Given the description of an element on the screen output the (x, y) to click on. 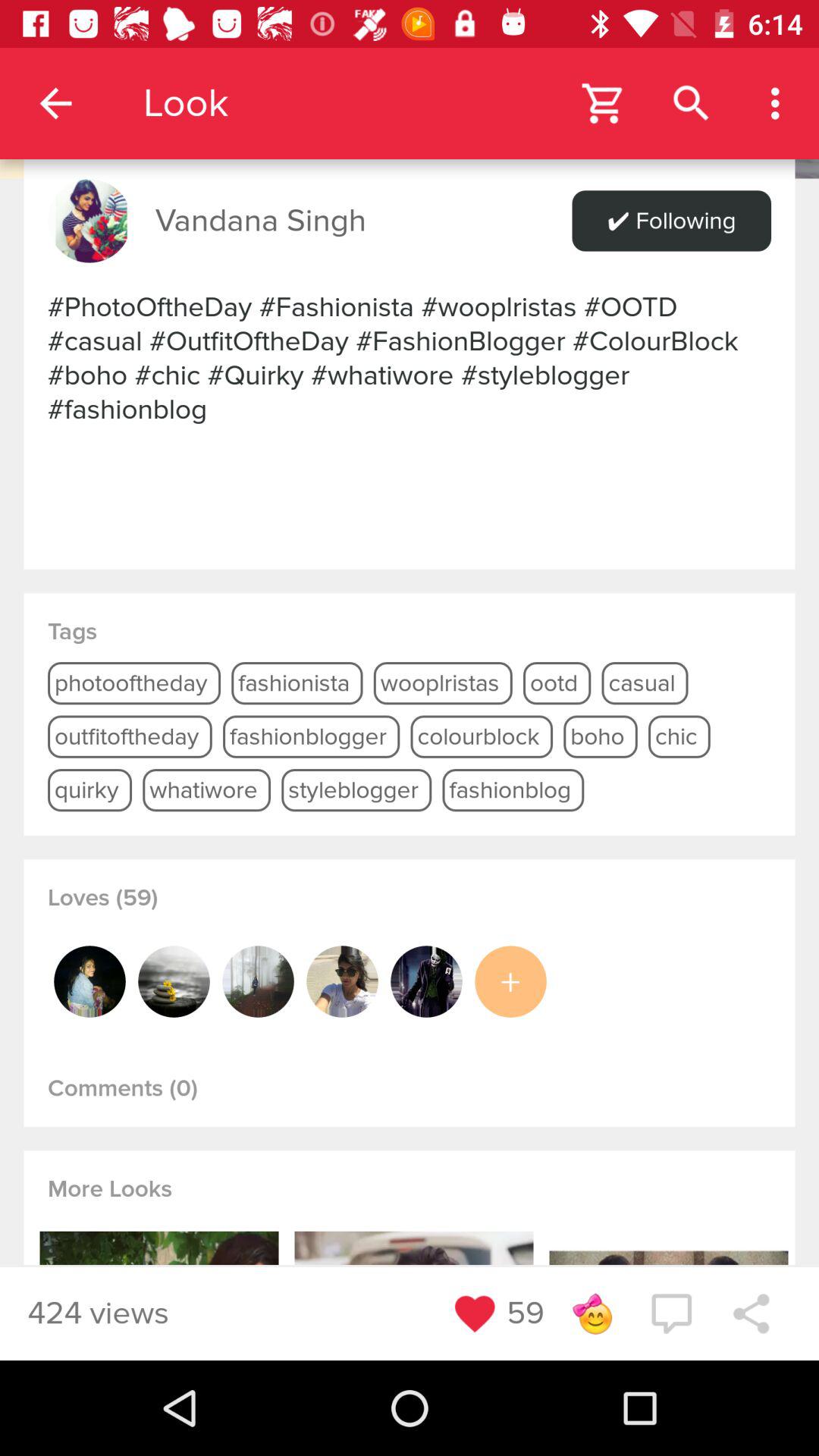
go back (409, 89)
